Given the description of an element on the screen output the (x, y) to click on. 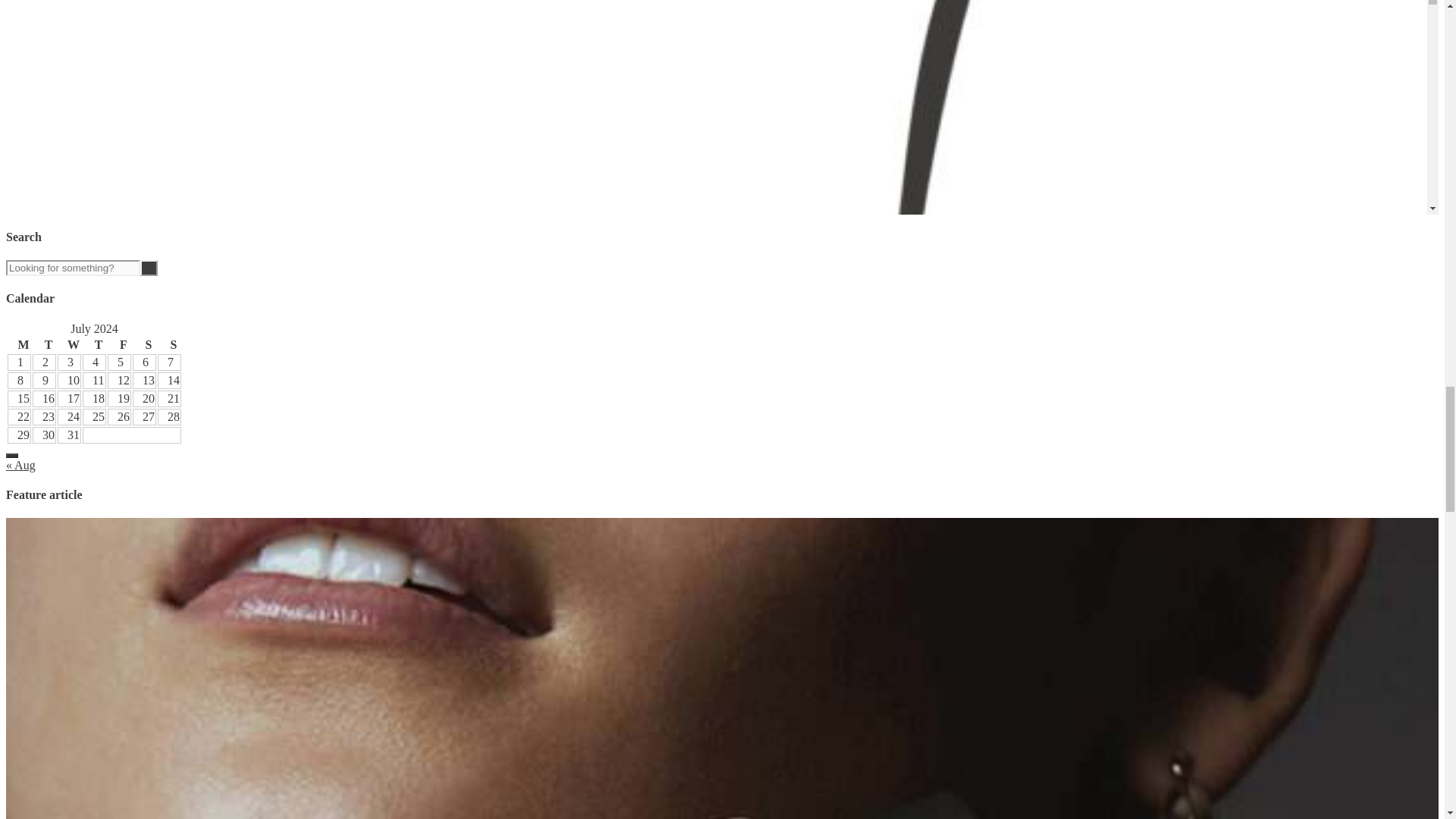
Tuesday (44, 344)
Thursday (94, 344)
Wednesday (69, 344)
Monday (18, 344)
Friday (119, 344)
Saturday (143, 344)
Sunday (168, 344)
